Given the description of an element on the screen output the (x, y) to click on. 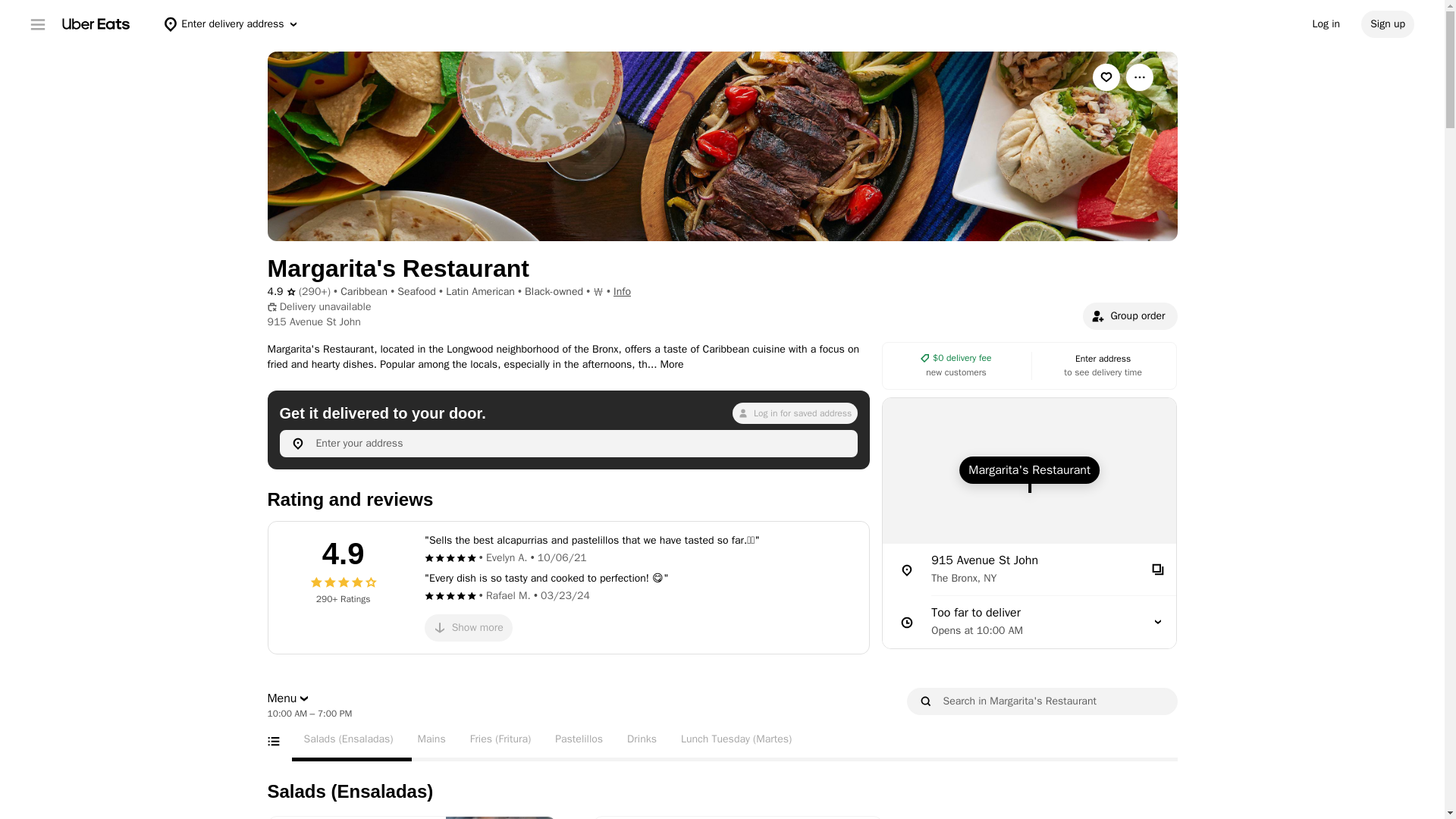
View more options (1139, 76)
Add to favorites (1105, 76)
